Given the description of an element on the screen output the (x, y) to click on. 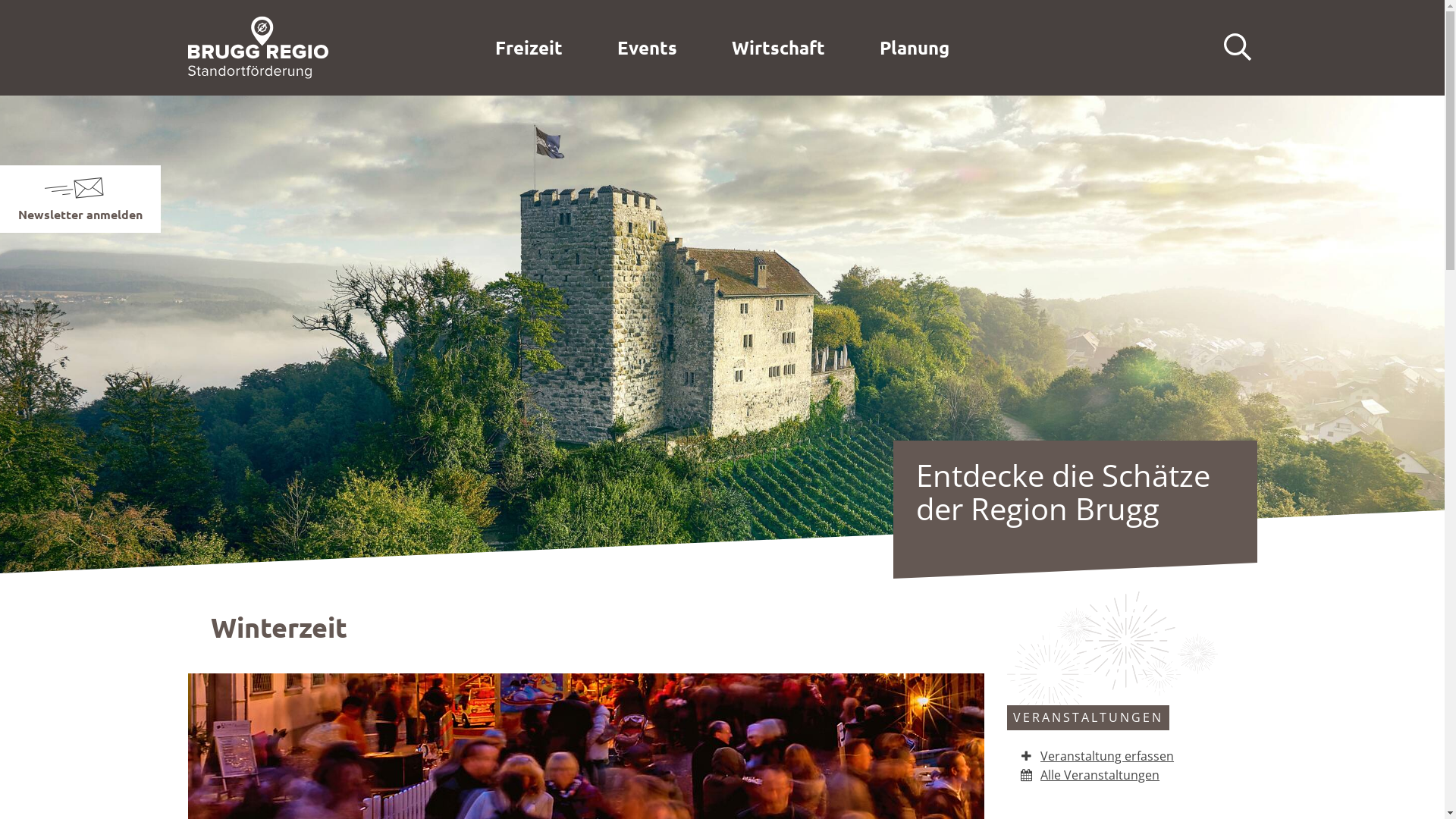
Alle Veranstaltungen Element type: text (1089, 774)
Freizeit Element type: text (528, 47)
Planung Element type: text (914, 47)
Wirtschaft Element type: text (778, 47)
Veranstaltung erfassen Element type: text (1096, 755)
Suche Element type: text (1237, 47)
Events Element type: text (646, 47)
Newsletter anmelden Element type: text (80, 213)
